Given the description of an element on the screen output the (x, y) to click on. 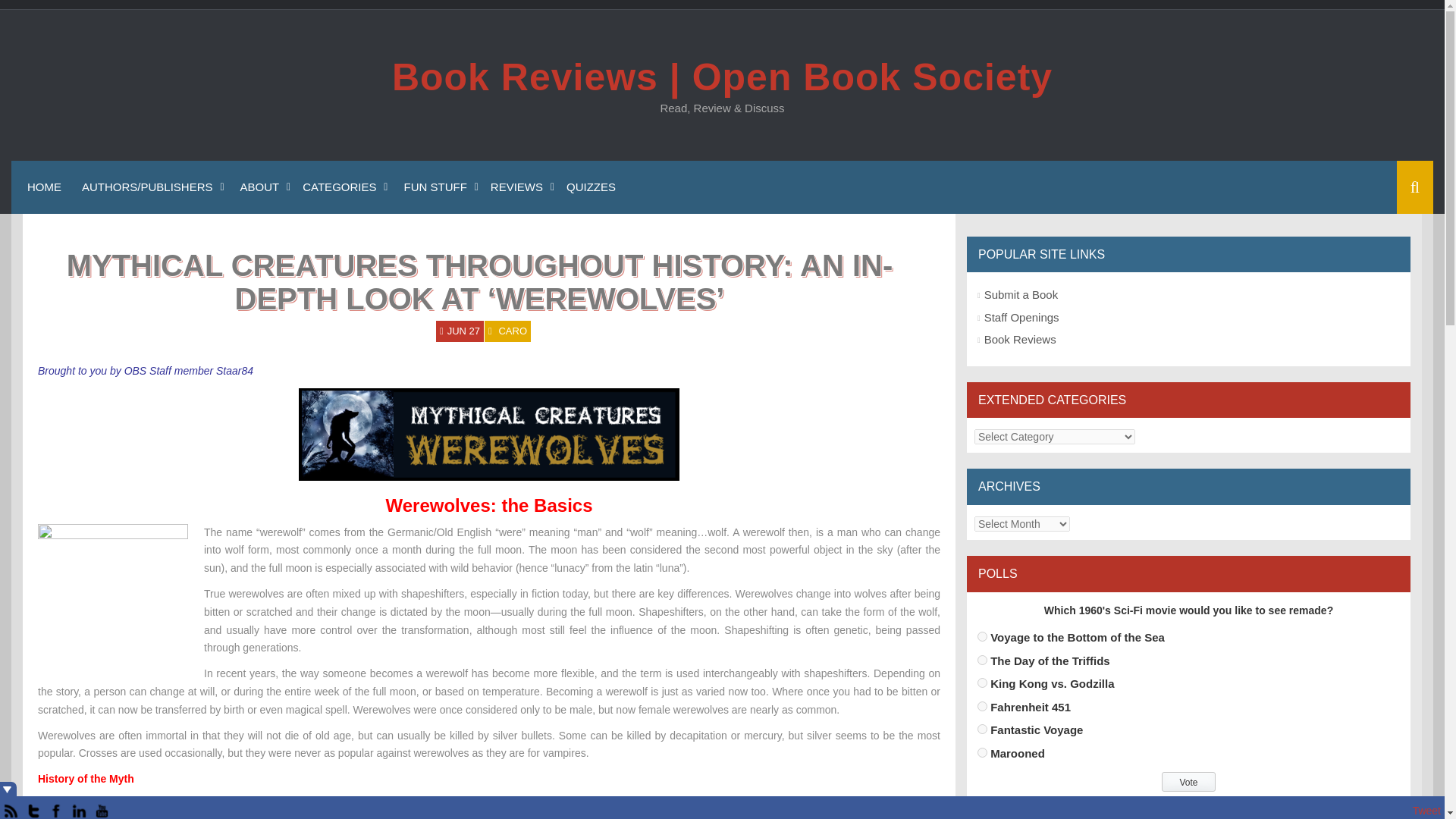
323 (981, 706)
HOME (41, 187)
324 (981, 728)
325 (981, 752)
View Results Of This Poll (1188, 806)
322 (981, 682)
320 (981, 636)
werewolf (112, 599)
werewolves (488, 434)
321 (981, 660)
   Vote    (1187, 781)
